Given the description of an element on the screen output the (x, y) to click on. 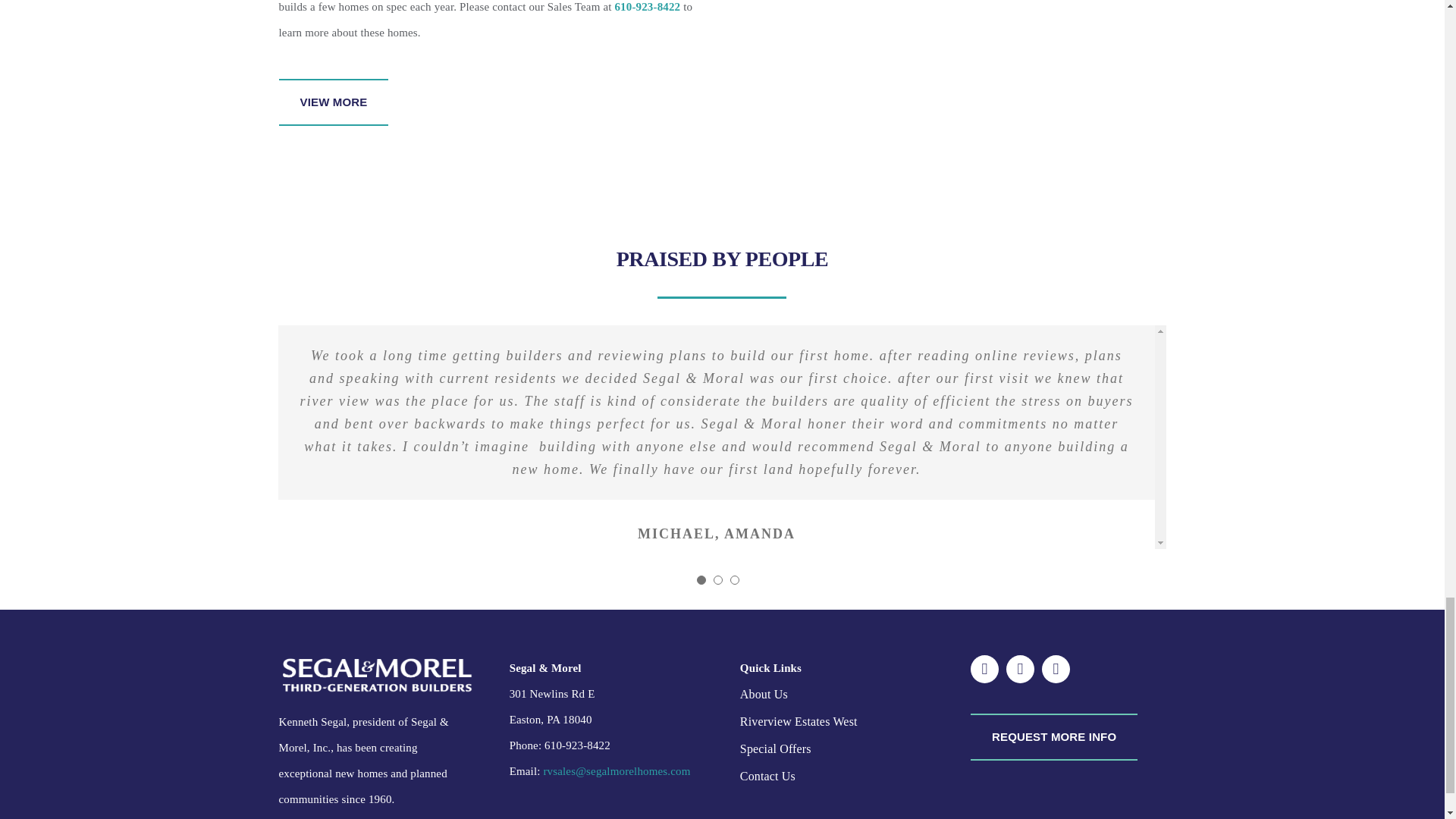
segalmorel-plan4traditional-1 (952, 84)
Facebook (984, 669)
YouTube (1056, 669)
Twitter (1019, 669)
